Given the description of an element on the screen output the (x, y) to click on. 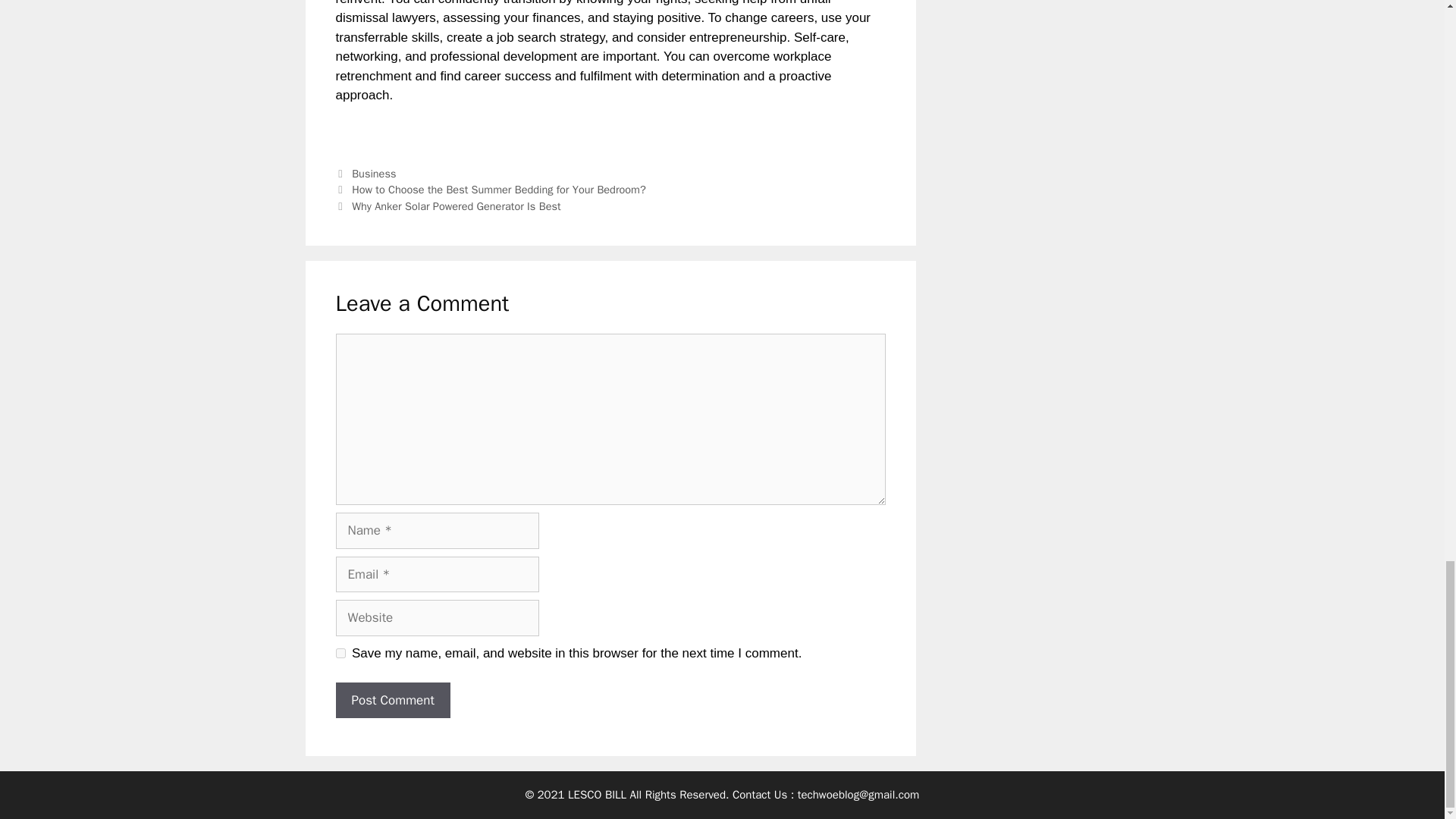
Post Comment (391, 700)
Business (374, 173)
yes (339, 653)
Post Comment (391, 700)
Why Anker Solar Powered Generator Is Best (456, 205)
How to Choose the Best Summer Bedding for Your Bedroom? (499, 189)
